Given the description of an element on the screen output the (x, y) to click on. 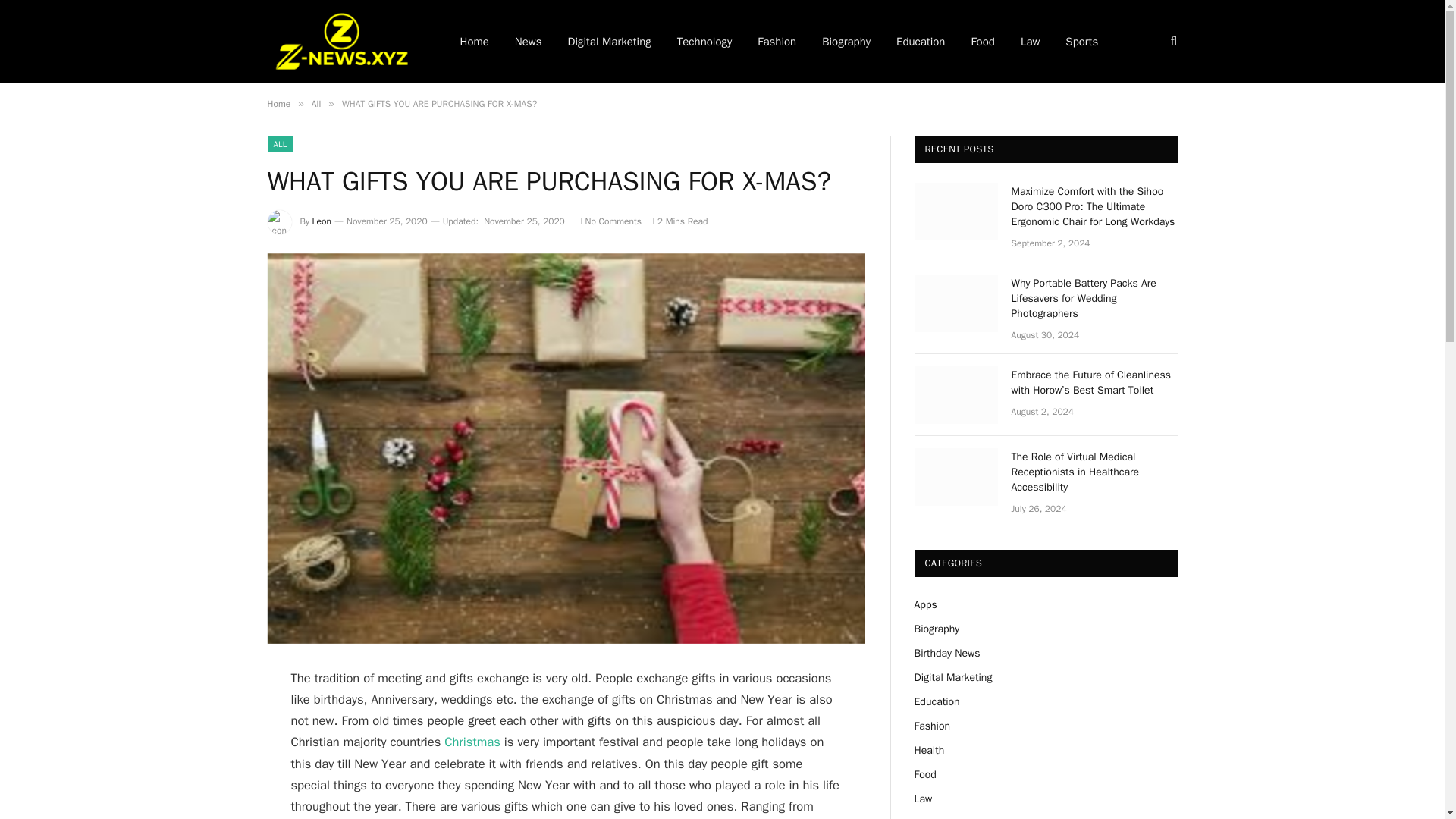
Home (277, 103)
Biography (846, 41)
Posts by Leon (322, 221)
Zee News (343, 41)
ALL (279, 143)
Leon (322, 221)
